Given the description of an element on the screen output the (x, y) to click on. 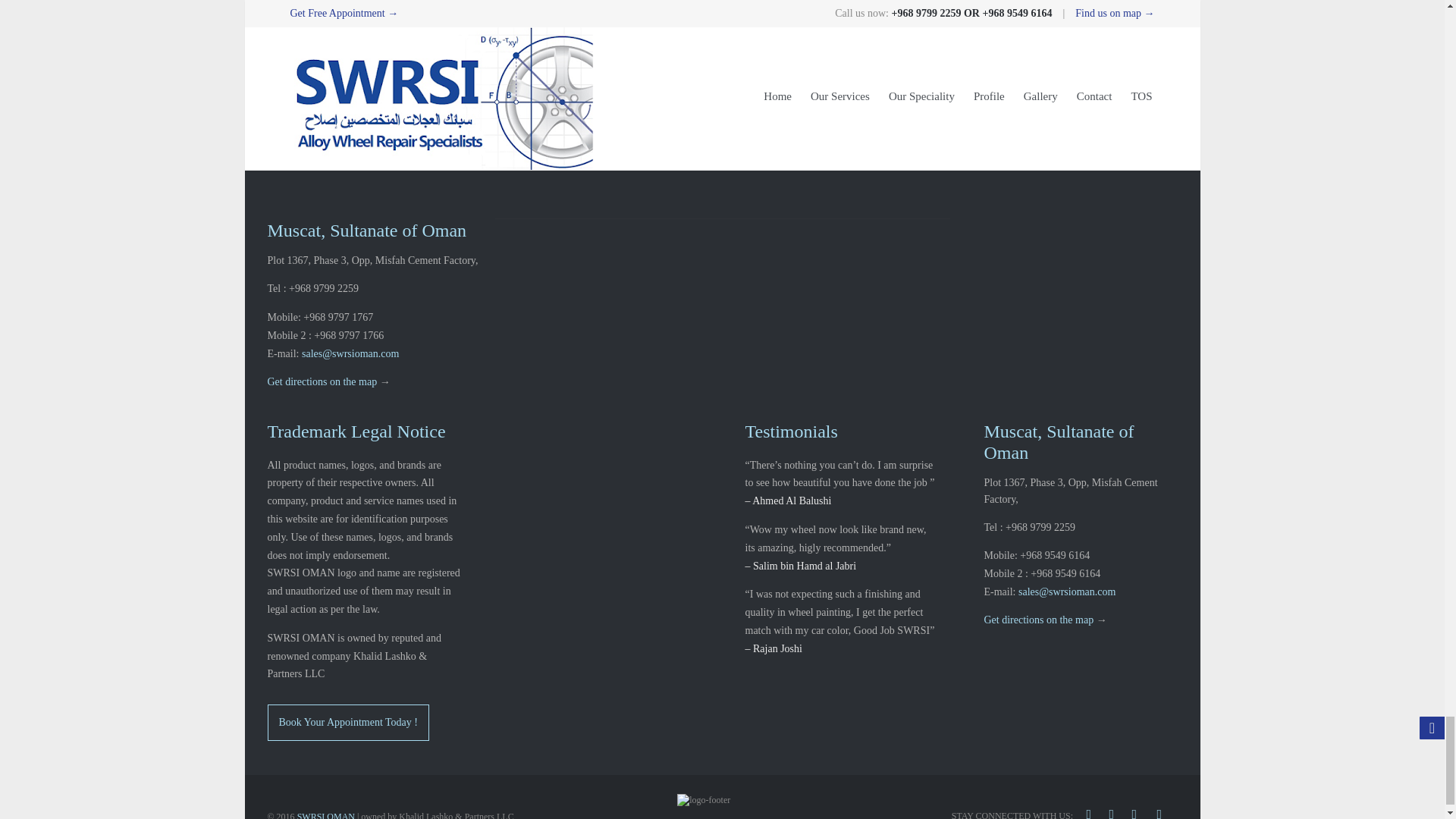
Share on Twitter (386, 9)
Share on Facebook (319, 9)
